Given the description of an element on the screen output the (x, y) to click on. 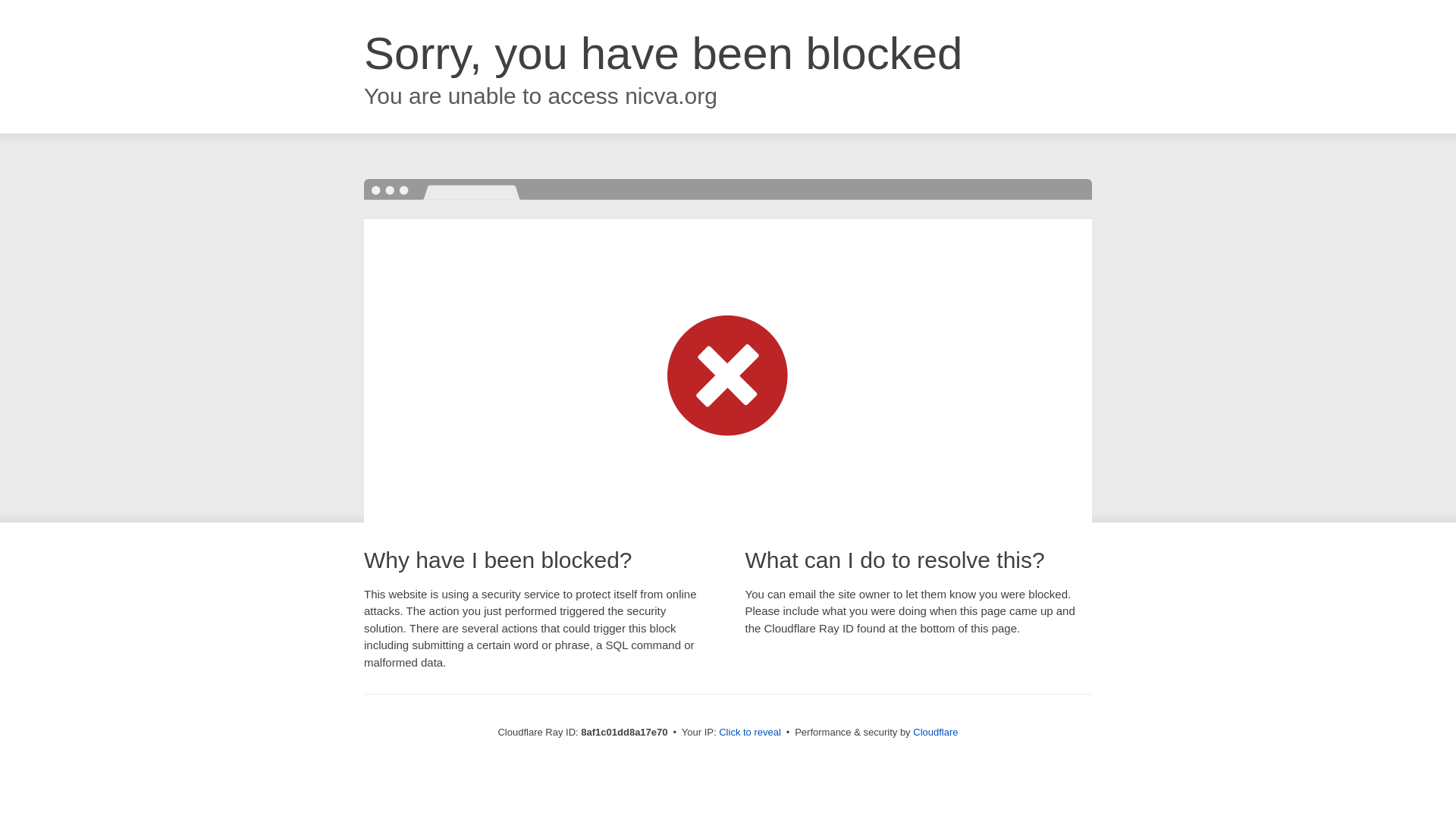
Click to reveal (749, 732)
Cloudflare (935, 731)
